Given the description of an element on the screen output the (x, y) to click on. 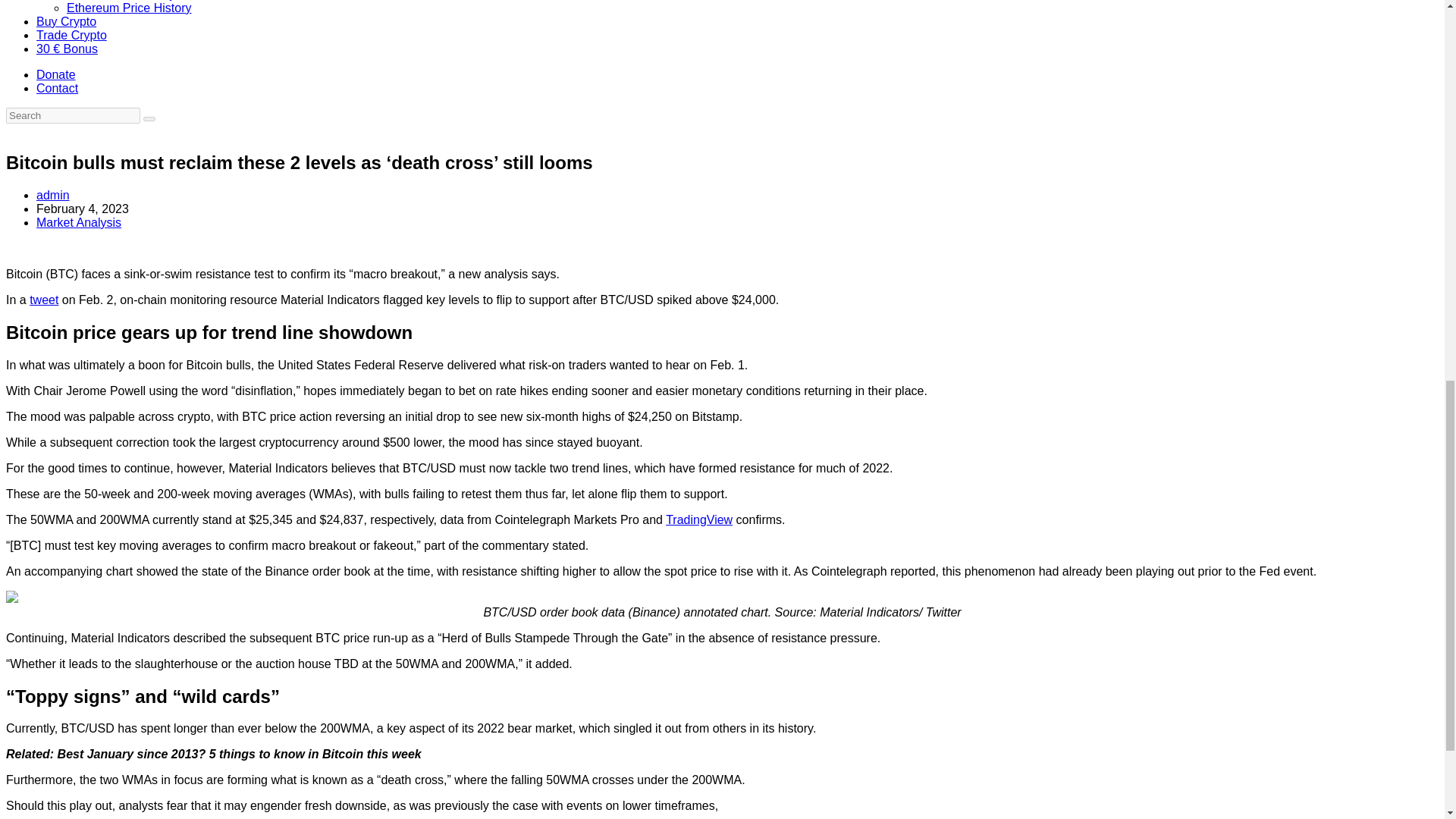
Posts by admin (52, 195)
